Given the description of an element on the screen output the (x, y) to click on. 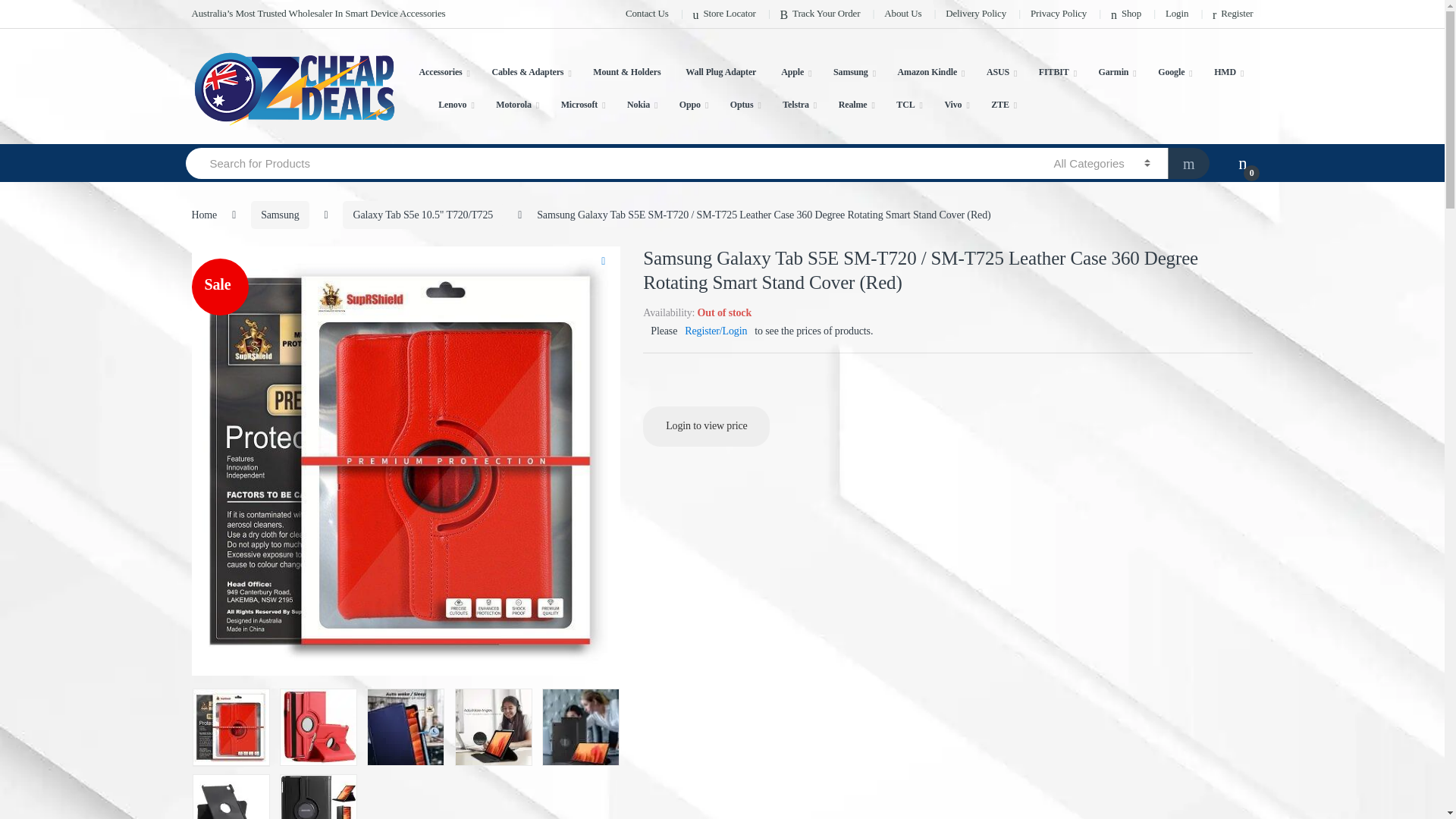
Register (1232, 13)
Shop (1125, 13)
Contact Us (647, 13)
Delivery Policy (975, 13)
Delivery Policy (975, 13)
Track Your Order (820, 13)
Contact Us (647, 13)
About Us (902, 13)
Store Locator (724, 13)
Register (1232, 13)
Shop (1125, 13)
Login (1177, 13)
Privacy Policy (1058, 13)
About Us (902, 13)
